Given the description of an element on the screen output the (x, y) to click on. 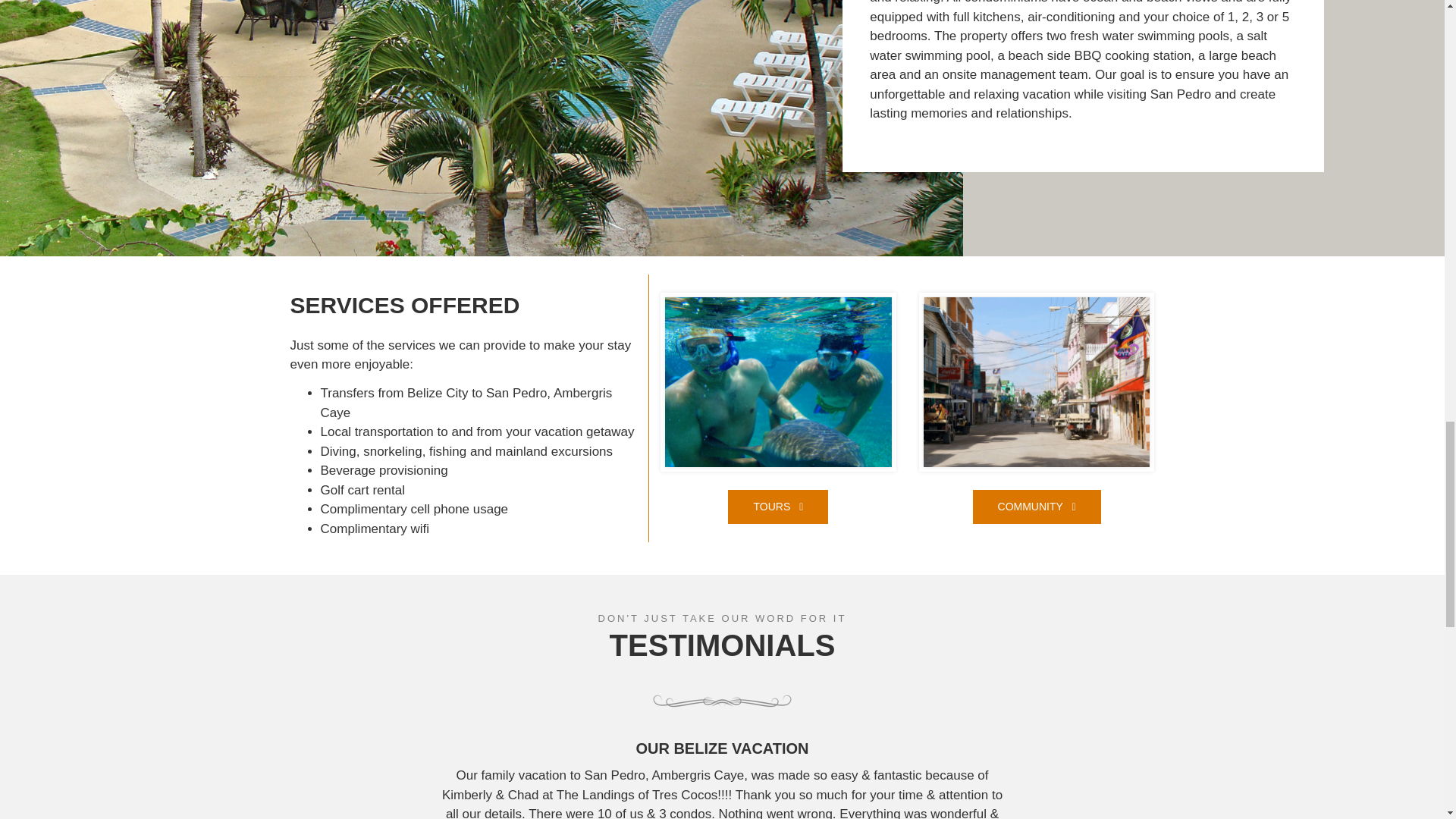
TOURS (778, 506)
COMMUNITY (1036, 506)
